Given the description of an element on the screen output the (x, y) to click on. 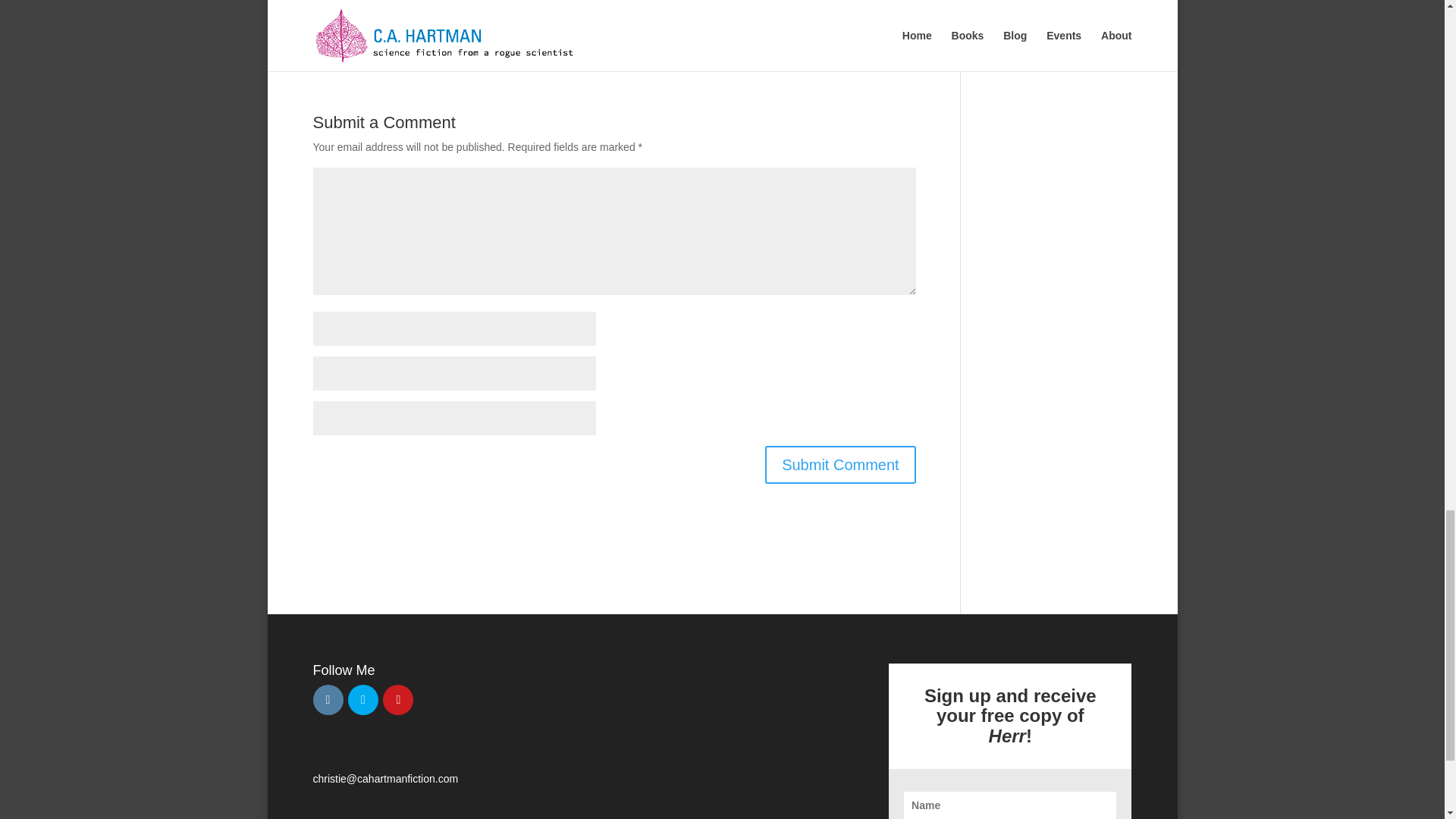
Reply (879, 23)
Submit Comment (840, 464)
Christie (486, 8)
Submit Comment (840, 464)
